Given the description of an element on the screen output the (x, y) to click on. 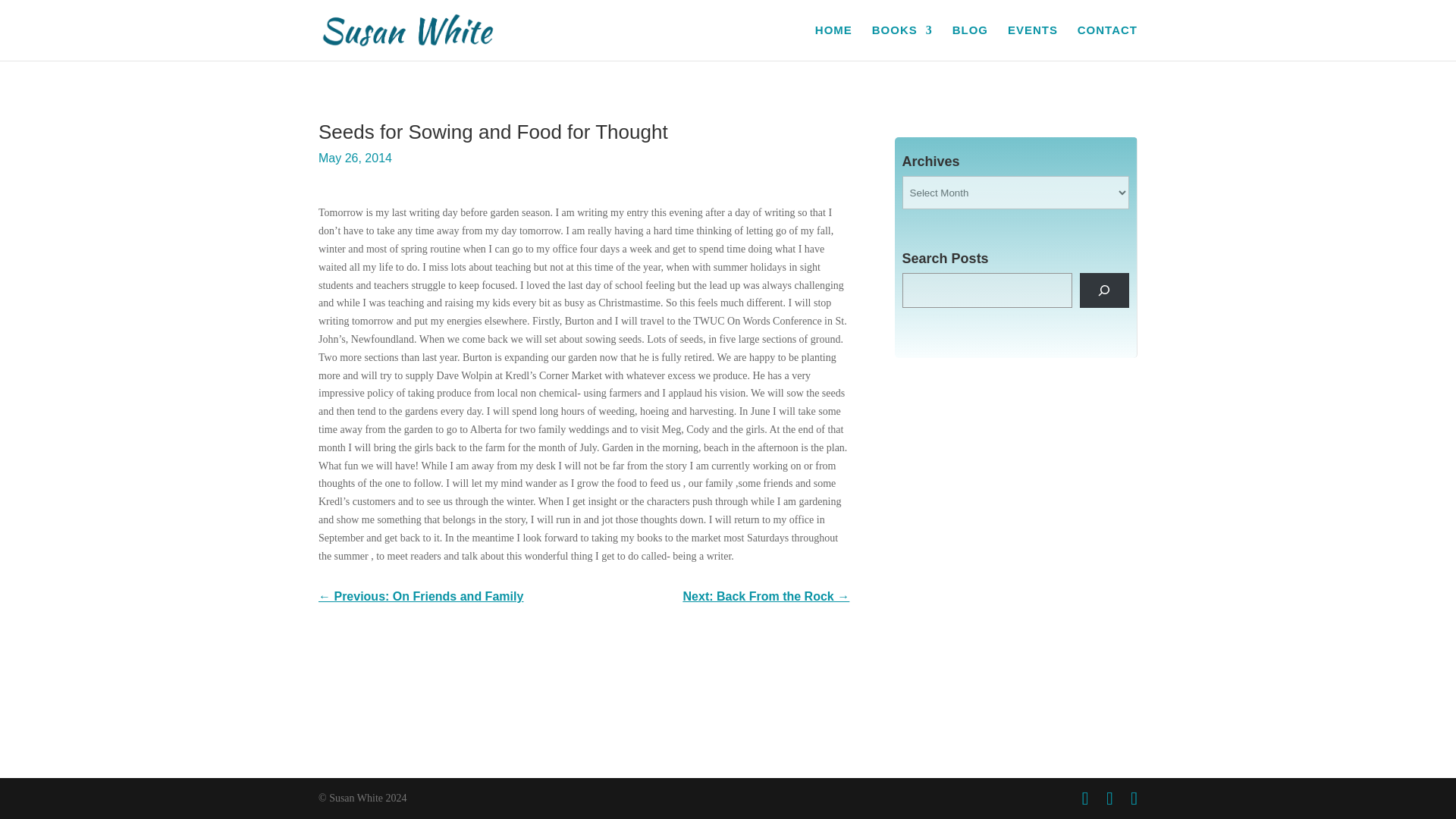
BLOG (970, 42)
CONTACT (1107, 42)
EVENTS (1032, 42)
BOOKS (902, 42)
HOME (833, 42)
